Given the description of an element on the screen output the (x, y) to click on. 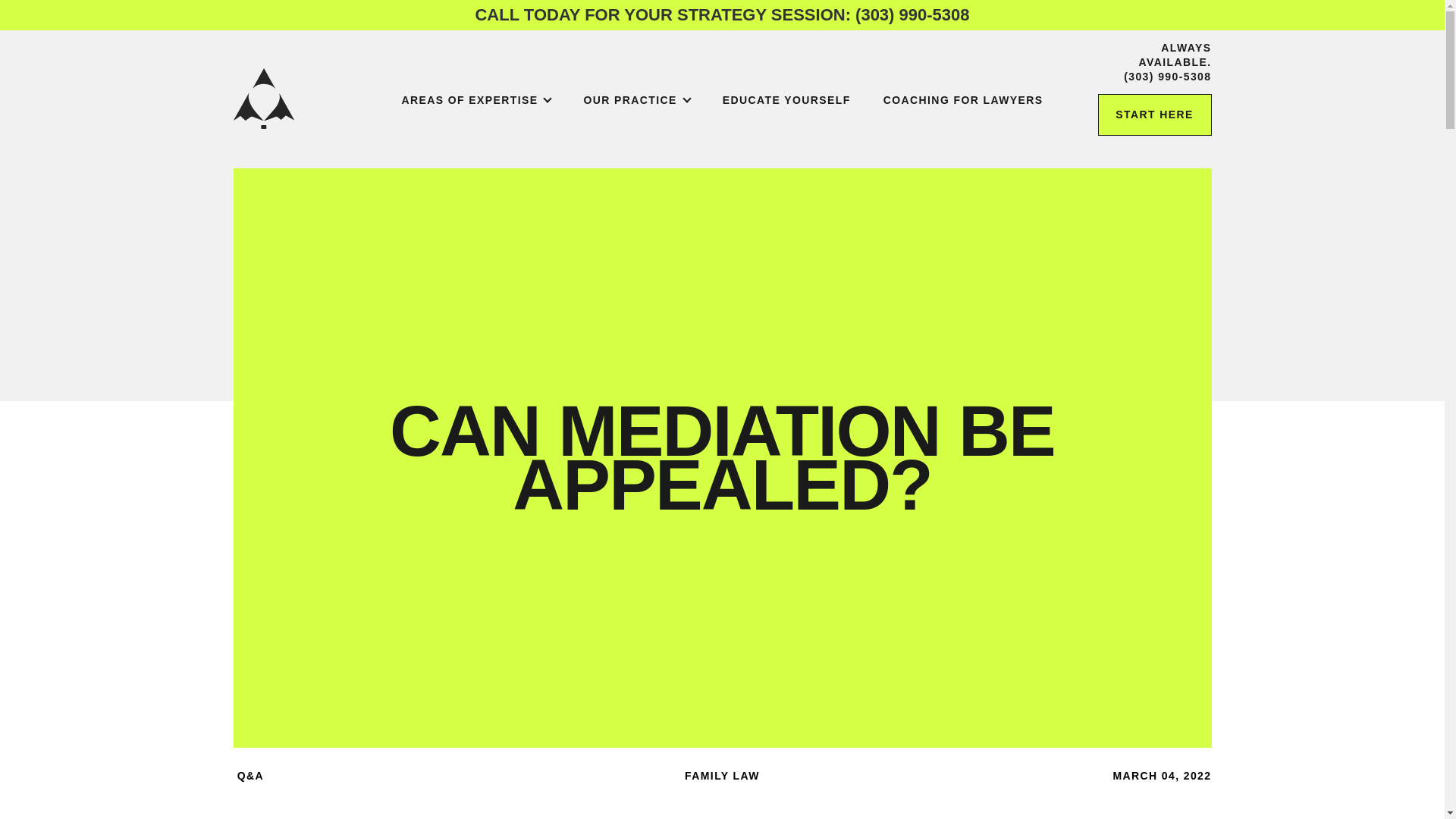
EDUCATE YOURSELF (786, 100)
OUR PRACTICE (635, 100)
COACHING FOR LAWYERS (963, 100)
START HERE (1154, 114)
AREAS OF EXPERTISE (475, 100)
